Given the description of an element on the screen output the (x, y) to click on. 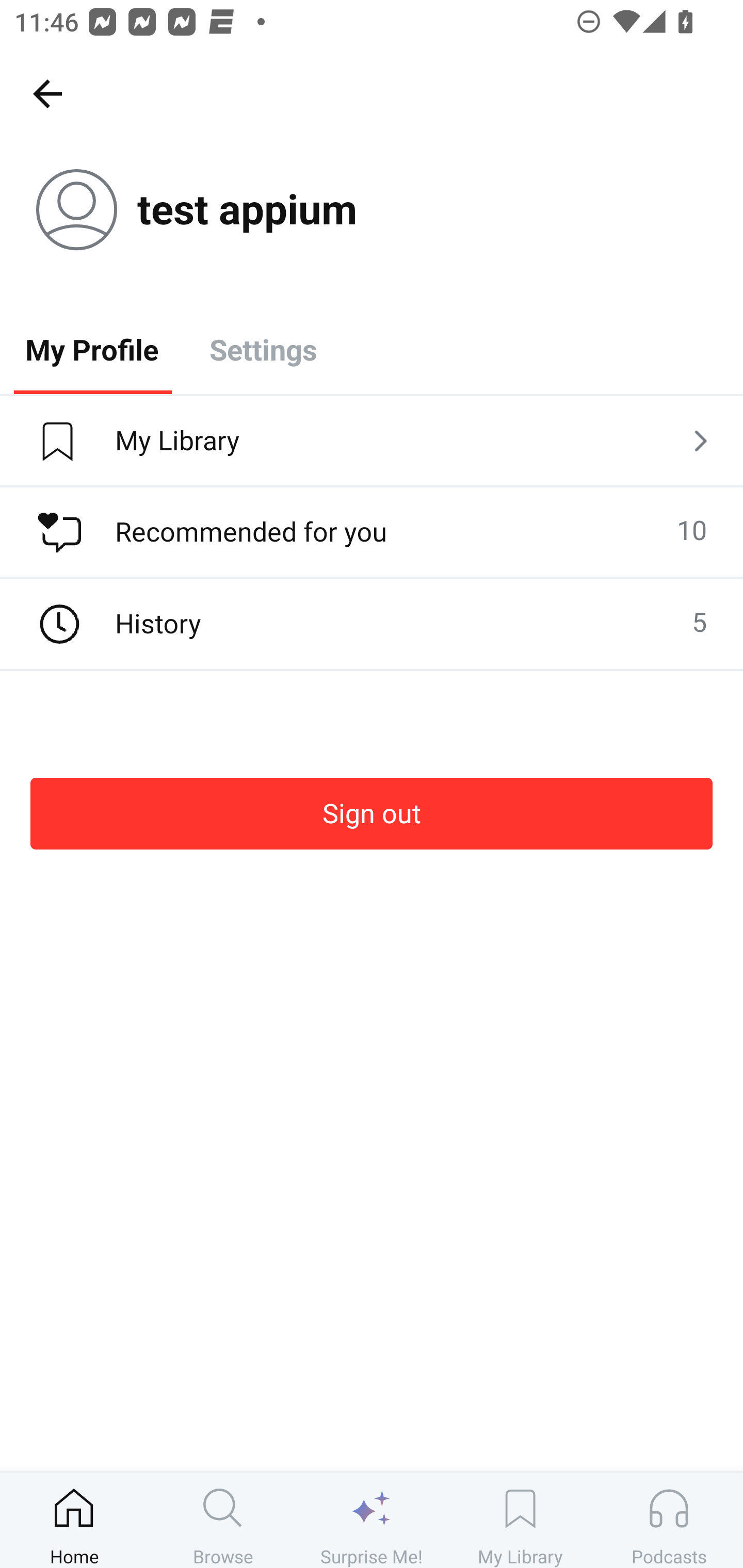
Home, back (47, 92)
My Profile (92, 348)
Settings (263, 348)
My Library (371, 441)
Recommended for you 10 (371, 532)
History 5 (371, 623)
Sign out (371, 813)
Home (74, 1520)
Browse (222, 1520)
Surprise Me! (371, 1520)
My Library (519, 1520)
Podcasts (668, 1520)
